Given the description of an element on the screen output the (x, y) to click on. 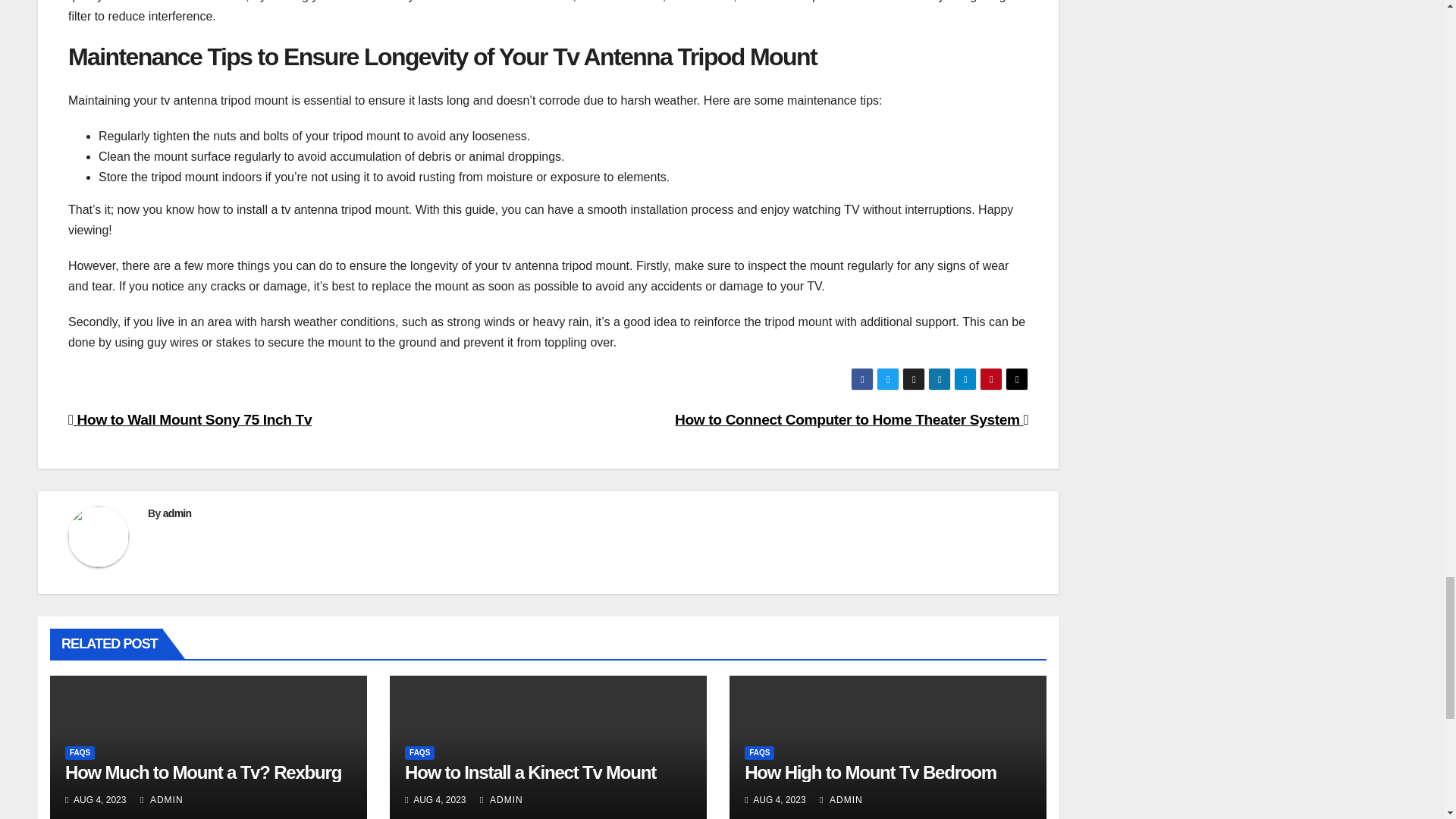
How to Connect Computer to Home Theater System (851, 419)
Permalink to: How Much to Mount a Tv? Rexburg (202, 772)
Permalink to: How High to Mount Tv Bedroom (869, 772)
How to Wall Mount Sony 75 Inch Tv (189, 419)
Permalink to: How to Install a Kinect Tv Mount (530, 772)
admin (177, 512)
